Given the description of an element on the screen output the (x, y) to click on. 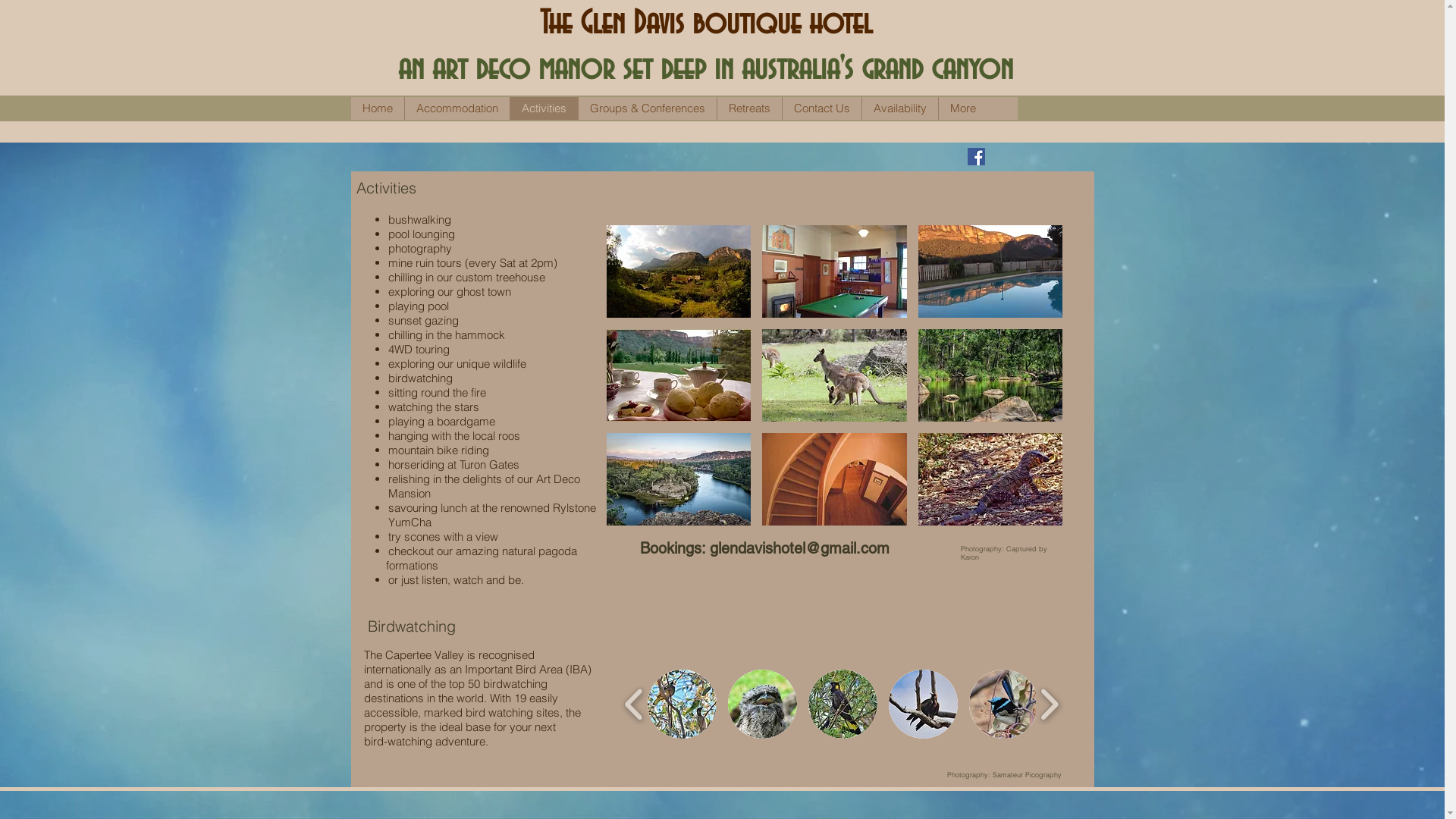
glendavishotel@gmail.com Element type: text (799, 548)
Home Element type: text (376, 108)
Retreats Element type: text (748, 108)
Activities Element type: text (543, 108)
Groups & Conferences Element type: text (646, 108)
Accommodation Element type: text (455, 108)
an art deco manor Element type: text (506, 69)
The Glen Davis boutique hotel Element type: text (705, 23)
Contact Us Element type: text (820, 108)
Availability Element type: text (899, 108)
